Given the description of an element on the screen output the (x, y) to click on. 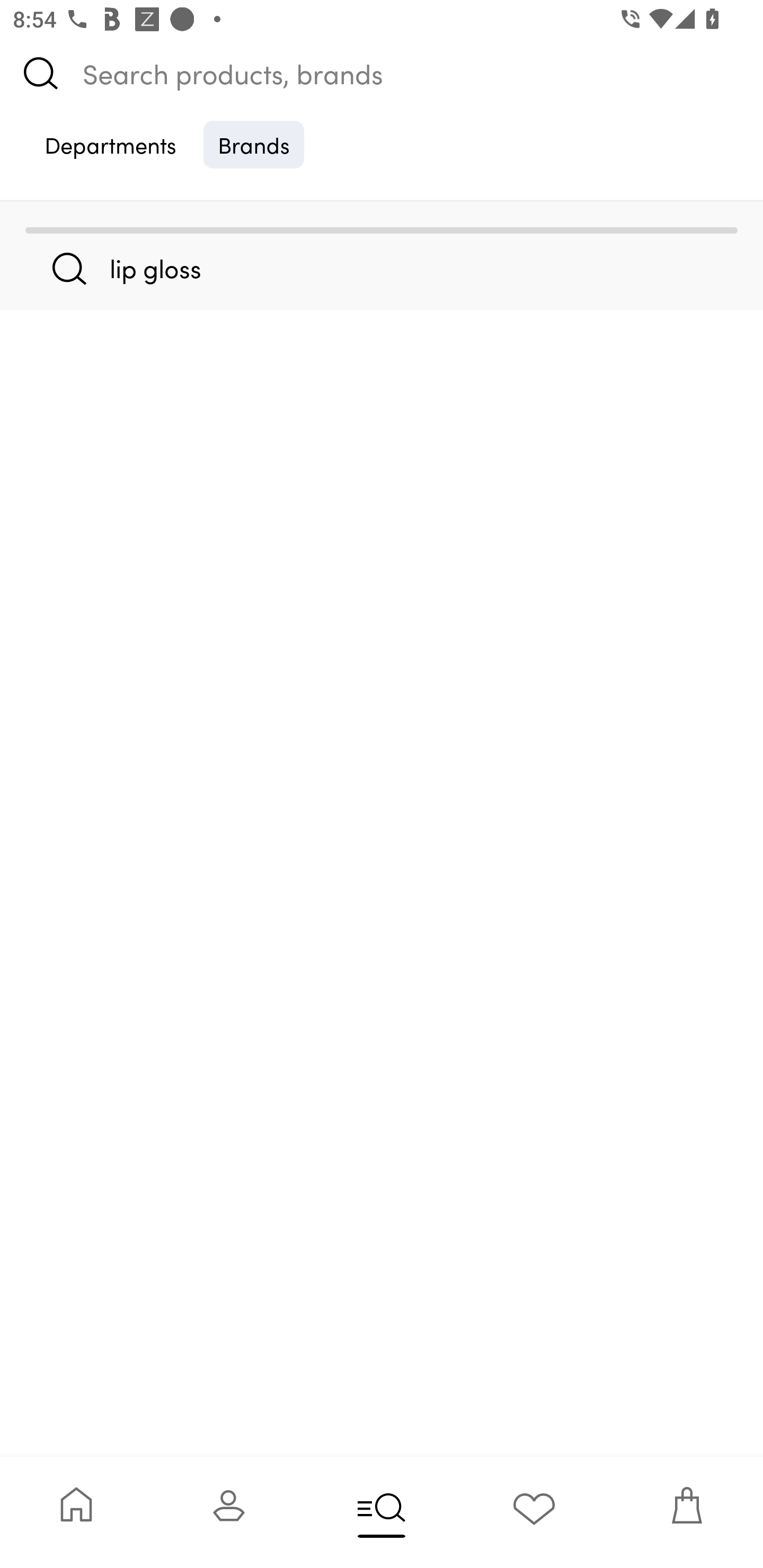
Search products, brands (381, 72)
Departments (110, 143)
Brands (253, 143)
